Given the description of an element on the screen output the (x, y) to click on. 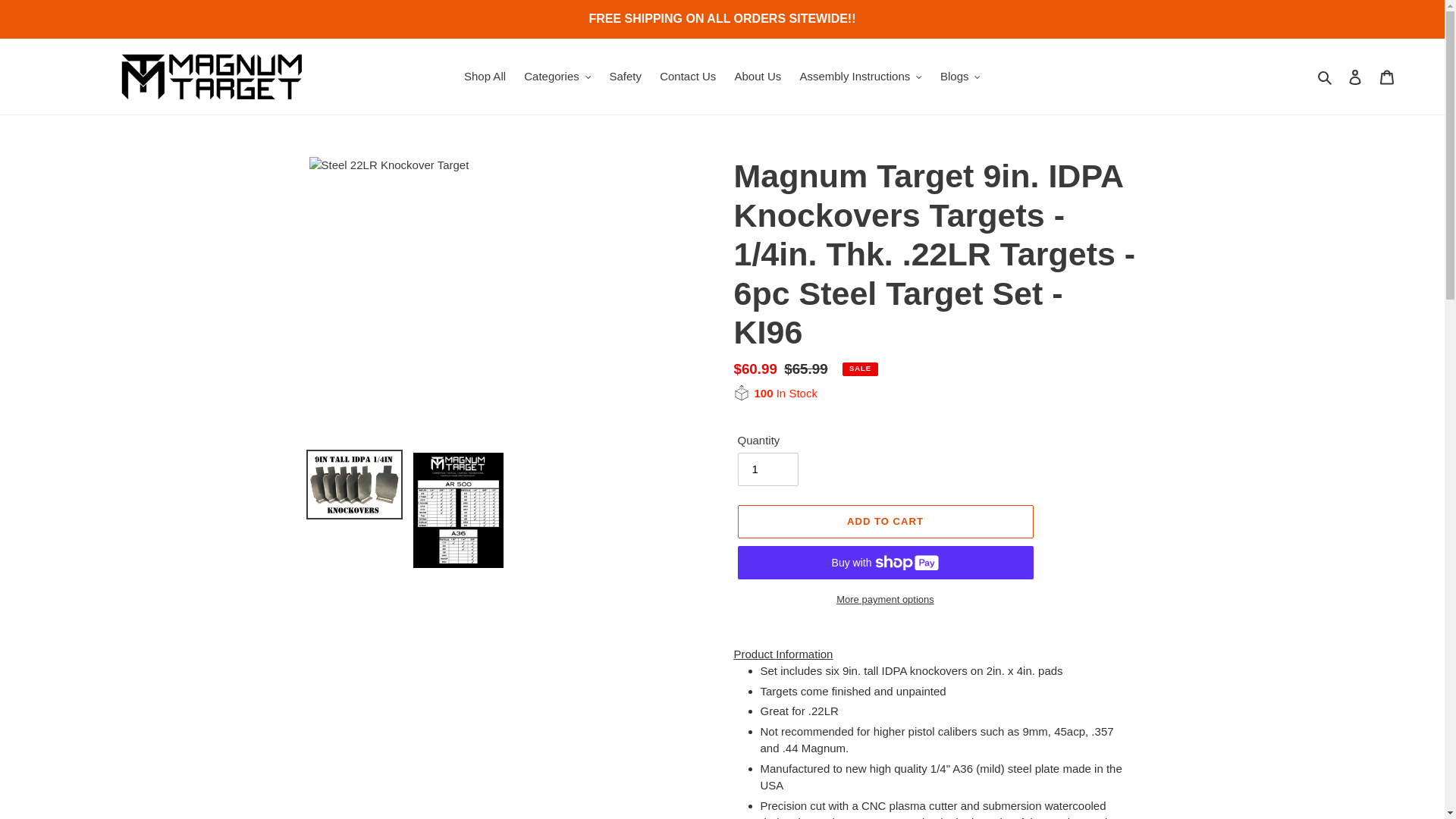
Shop All (485, 76)
Safety (625, 76)
Blogs (960, 76)
Contact Us (687, 76)
About Us (757, 76)
Categories (557, 76)
Assembly Instructions (860, 76)
1 (766, 469)
